Given the description of an element on the screen output the (x, y) to click on. 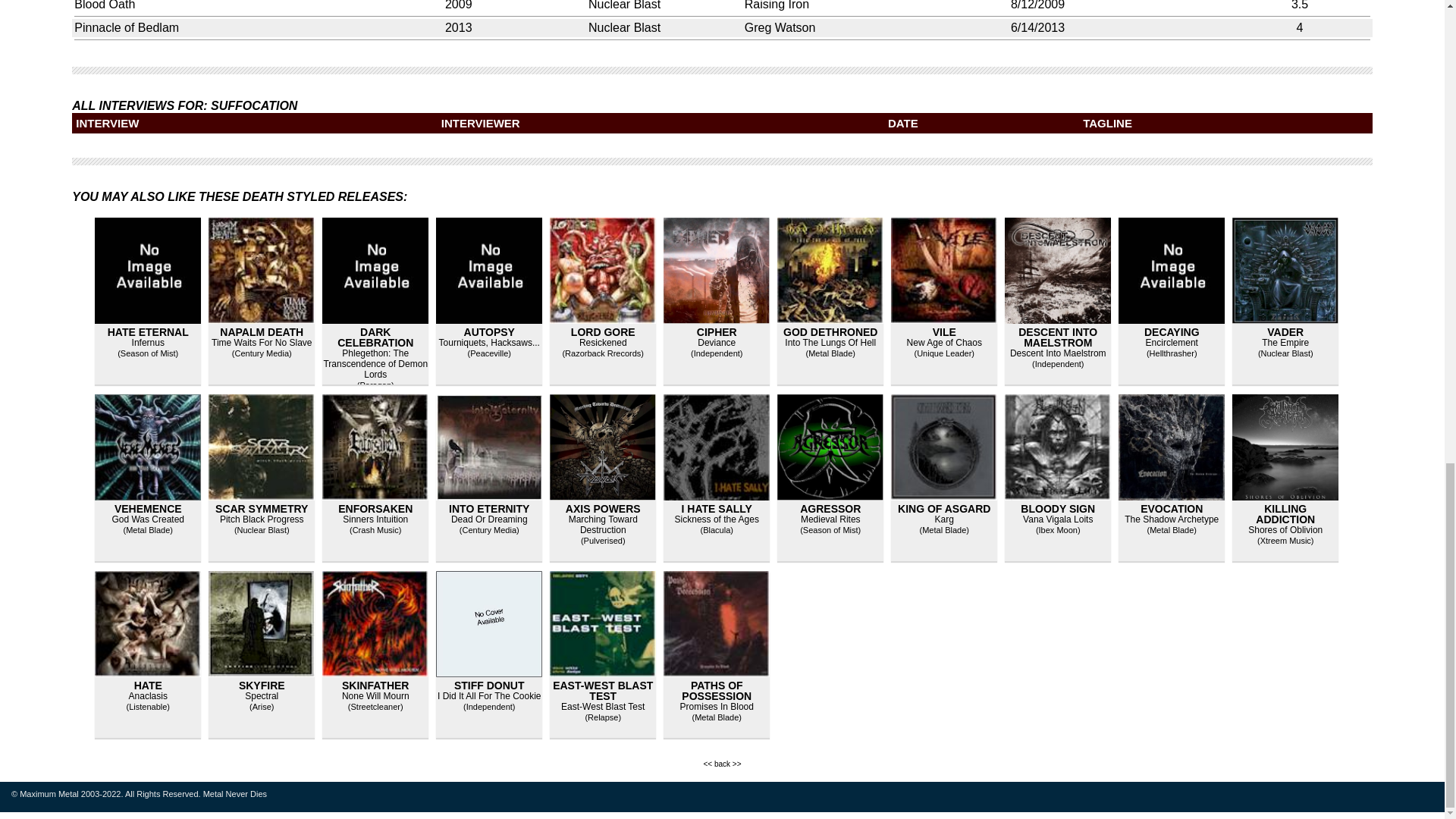
Blood Oath (104, 5)
GOD DETHRONED (830, 331)
Tourniquets, Hacksaws... (489, 342)
NAPALM DEATH (260, 331)
Infernus (148, 342)
Deviance (716, 342)
Resickened (603, 342)
New Age of Chaos (944, 342)
Descent Into Maelstrom (1058, 353)
HATE ETERNAL (148, 331)
